Given the description of an element on the screen output the (x, y) to click on. 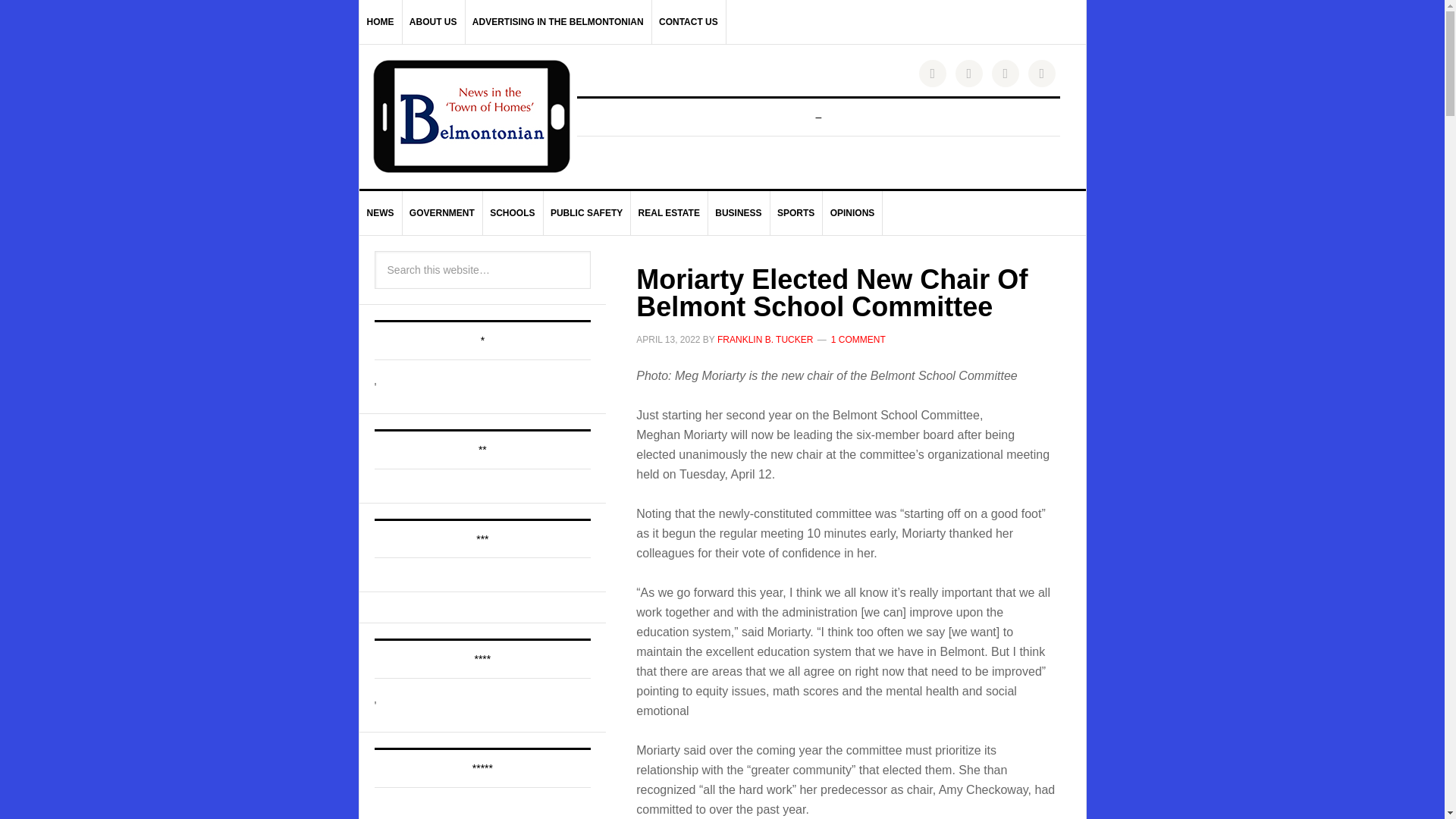
BUSINESS (738, 212)
PUBLIC SAFETY (586, 212)
NEWS (381, 212)
OPINIONS (852, 212)
1 COMMENT (858, 339)
GOVERNMENT (442, 212)
THE BELMONTONIAN (471, 116)
ADVERTISING IN THE BELMONTONIAN (558, 22)
Moriarty Elected New Chair Of Belmont School Committee (831, 292)
SPORTS (796, 212)
HOME (381, 22)
SCHOOLS (512, 212)
REAL ESTATE (668, 212)
CONTACT US (688, 22)
